Given the description of an element on the screen output the (x, y) to click on. 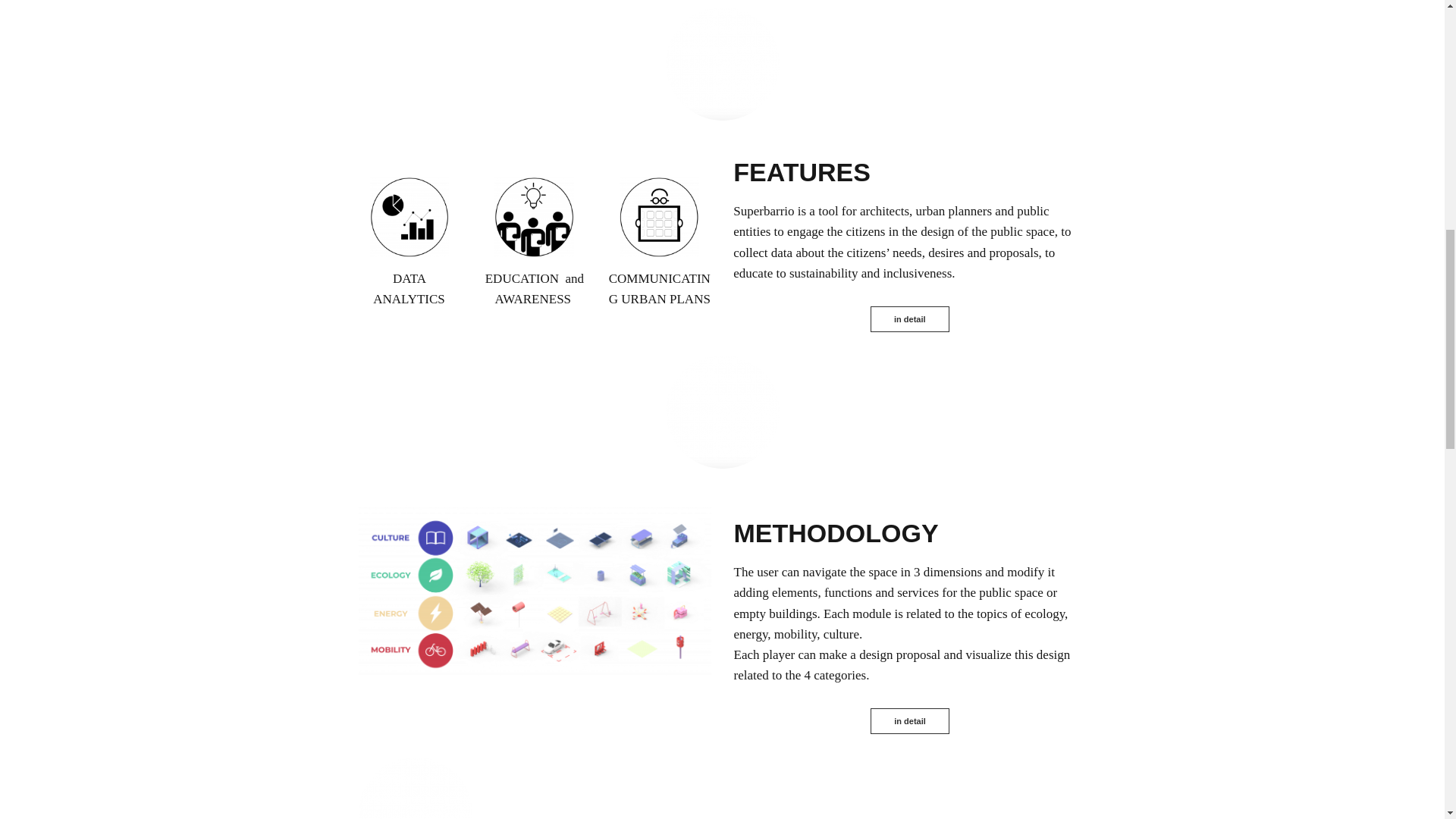
in detail (909, 319)
education-03 (534, 217)
analytics (409, 217)
in detail (909, 720)
education-02 (659, 217)
